Given the description of an element on the screen output the (x, y) to click on. 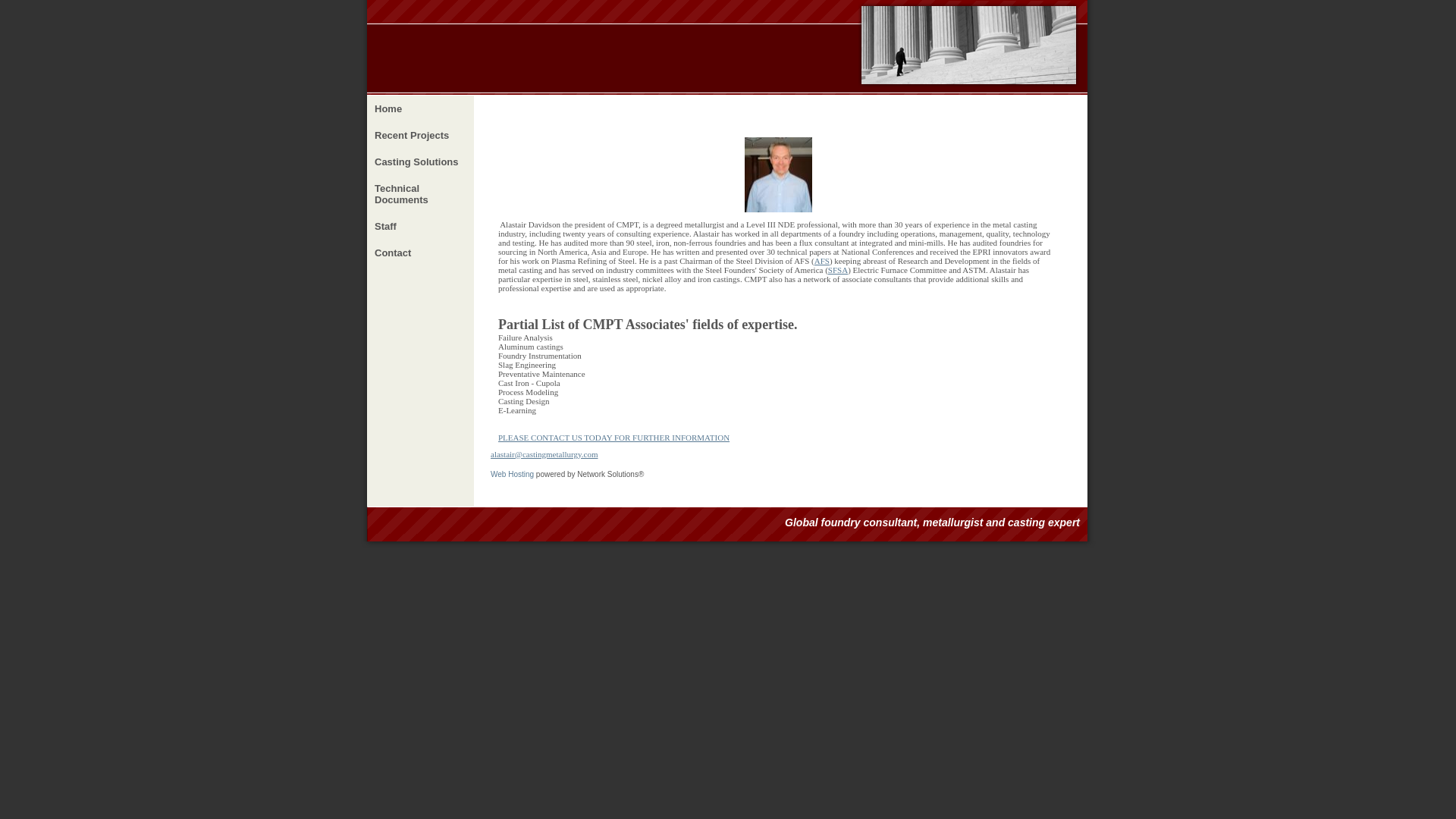
Technical Documents (420, 193)
Recent Projects (420, 135)
Home (420, 108)
Staff (420, 225)
Web Hosting (512, 474)
Casting Solutions (420, 161)
Web hosting (512, 474)
Contact (420, 252)
AFS (821, 260)
SFSA (837, 269)
